Given the description of an element on the screen output the (x, y) to click on. 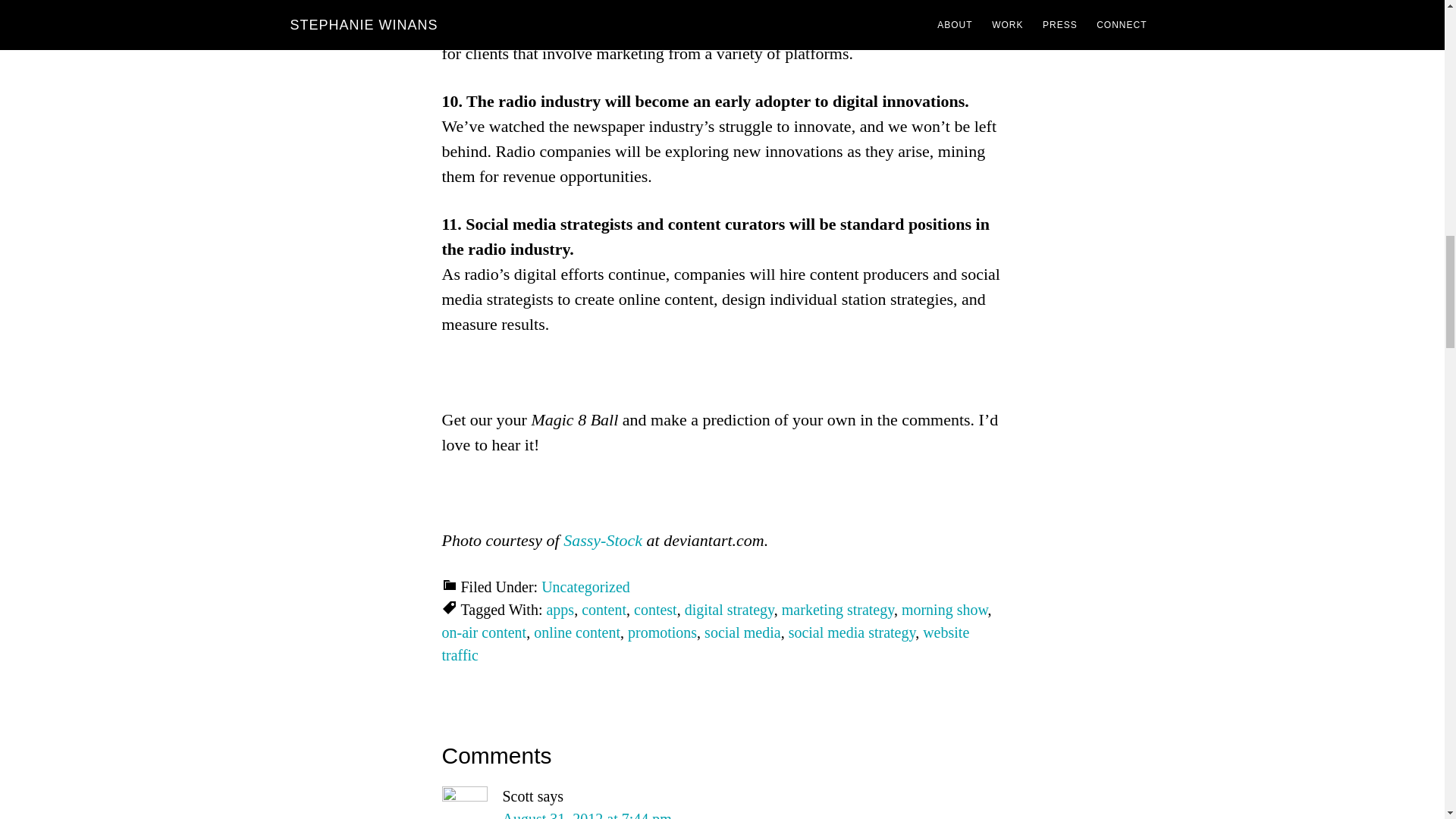
promotions (662, 632)
August 31, 2012 at 7:44 pm (586, 814)
website traffic (705, 643)
digital strategy (729, 609)
social media (742, 632)
content (603, 609)
online content (577, 632)
marketing strategy (837, 609)
Sassy-Stock (602, 539)
social media strategy (852, 632)
contest (655, 609)
Uncategorized (585, 586)
on-air content (483, 632)
apps (559, 609)
morning show (944, 609)
